Given the description of an element on the screen output the (x, y) to click on. 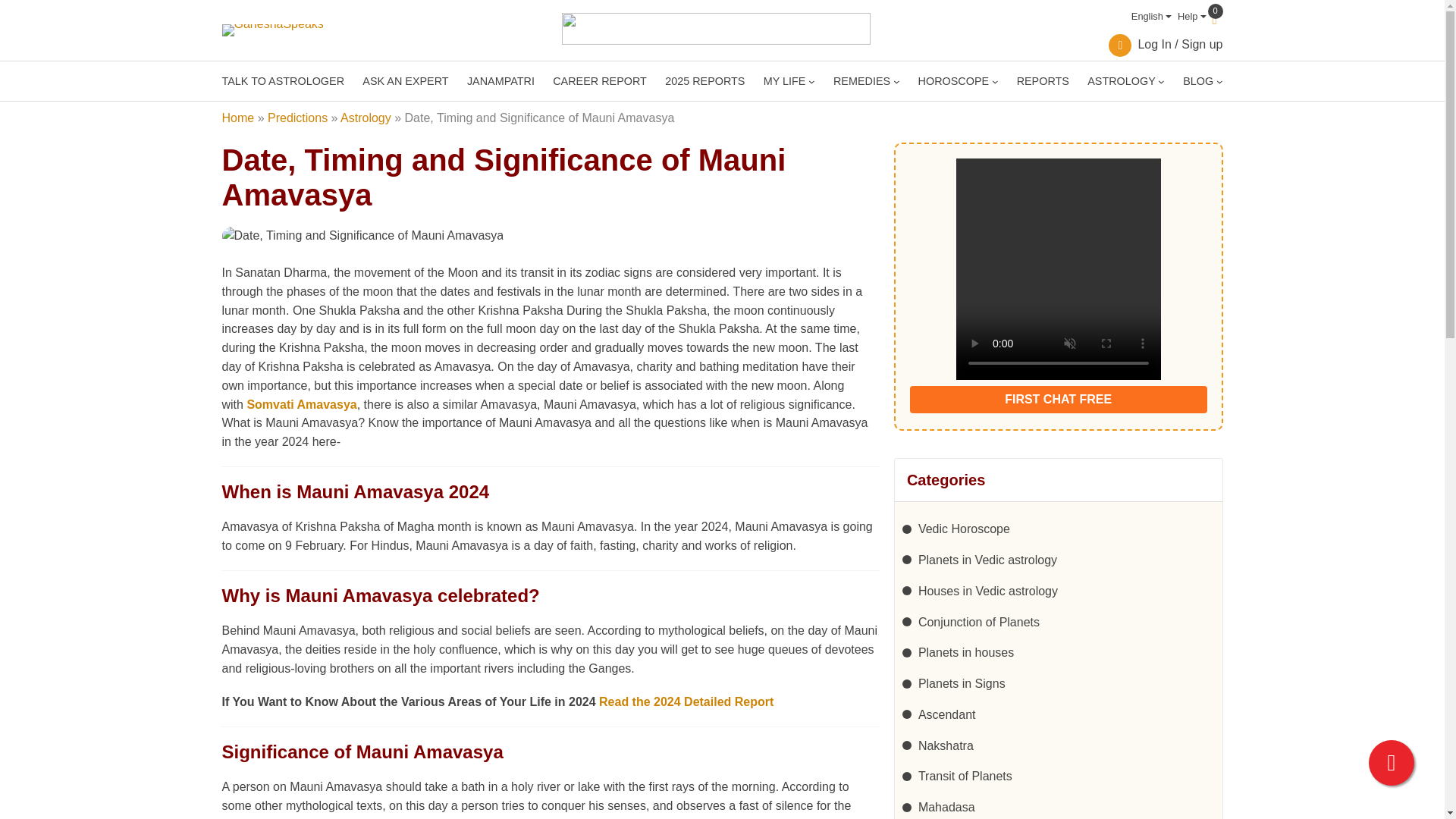
English (1148, 16)
TALK TO ASTROLOGER (282, 80)
JANAMPATRI (500, 80)
MY LIFE (784, 80)
CAREER REPORT (599, 80)
ASK AN EXPERT (405, 80)
2025 REPORTS (704, 80)
Help (1189, 16)
Date, Timing and Significance of Mauni Amavasya (362, 235)
